Given the description of an element on the screen output the (x, y) to click on. 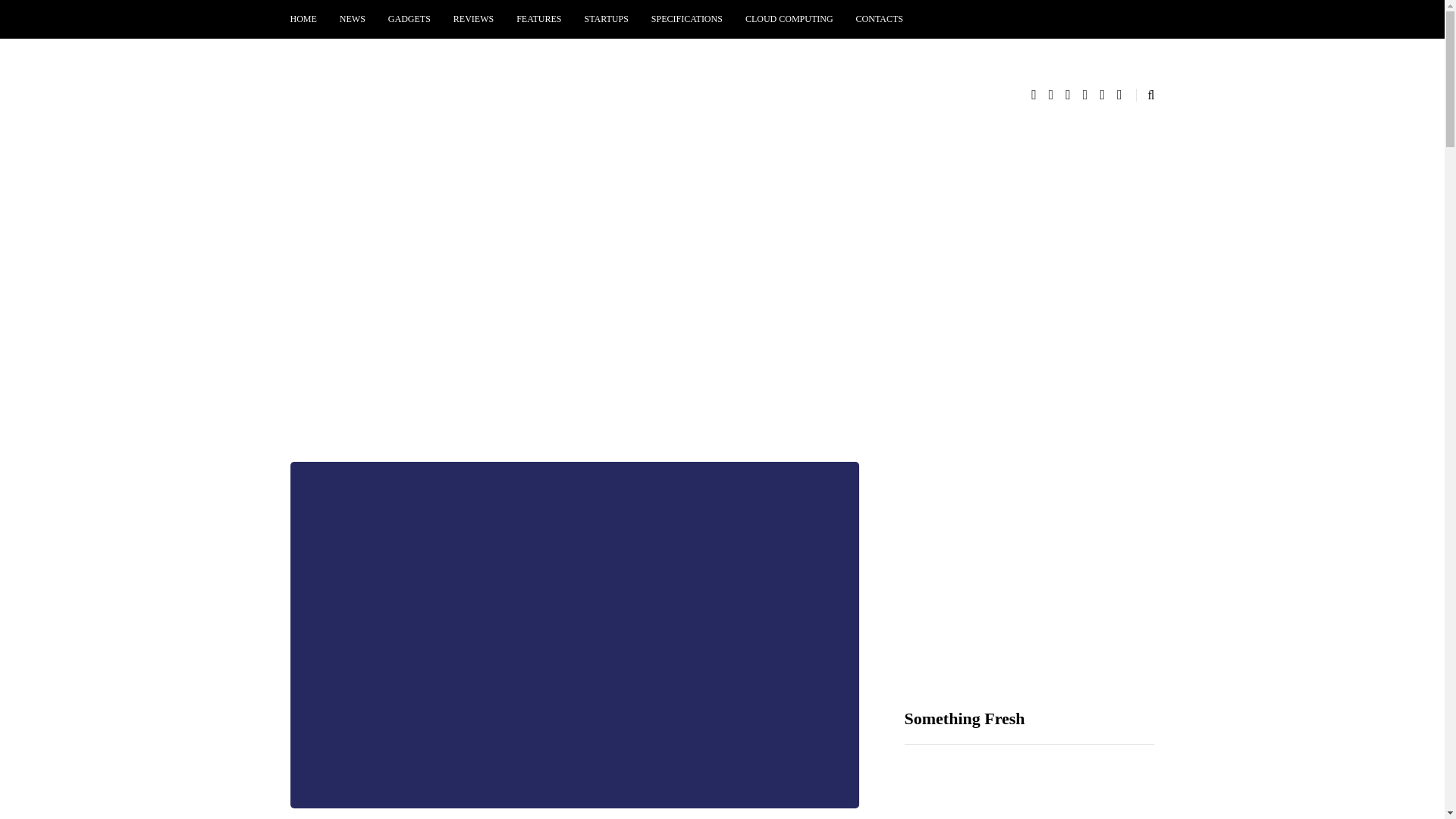
CONTACTS (879, 19)
SPECIFICATIONS (686, 19)
REVIEWS (473, 19)
Search (43, 15)
STARTUPS (606, 19)
NEWS (353, 19)
FEATURES (538, 19)
CLOUD COMPUTING (788, 19)
HOME (308, 19)
GADGETS (409, 19)
